Given the description of an element on the screen output the (x, y) to click on. 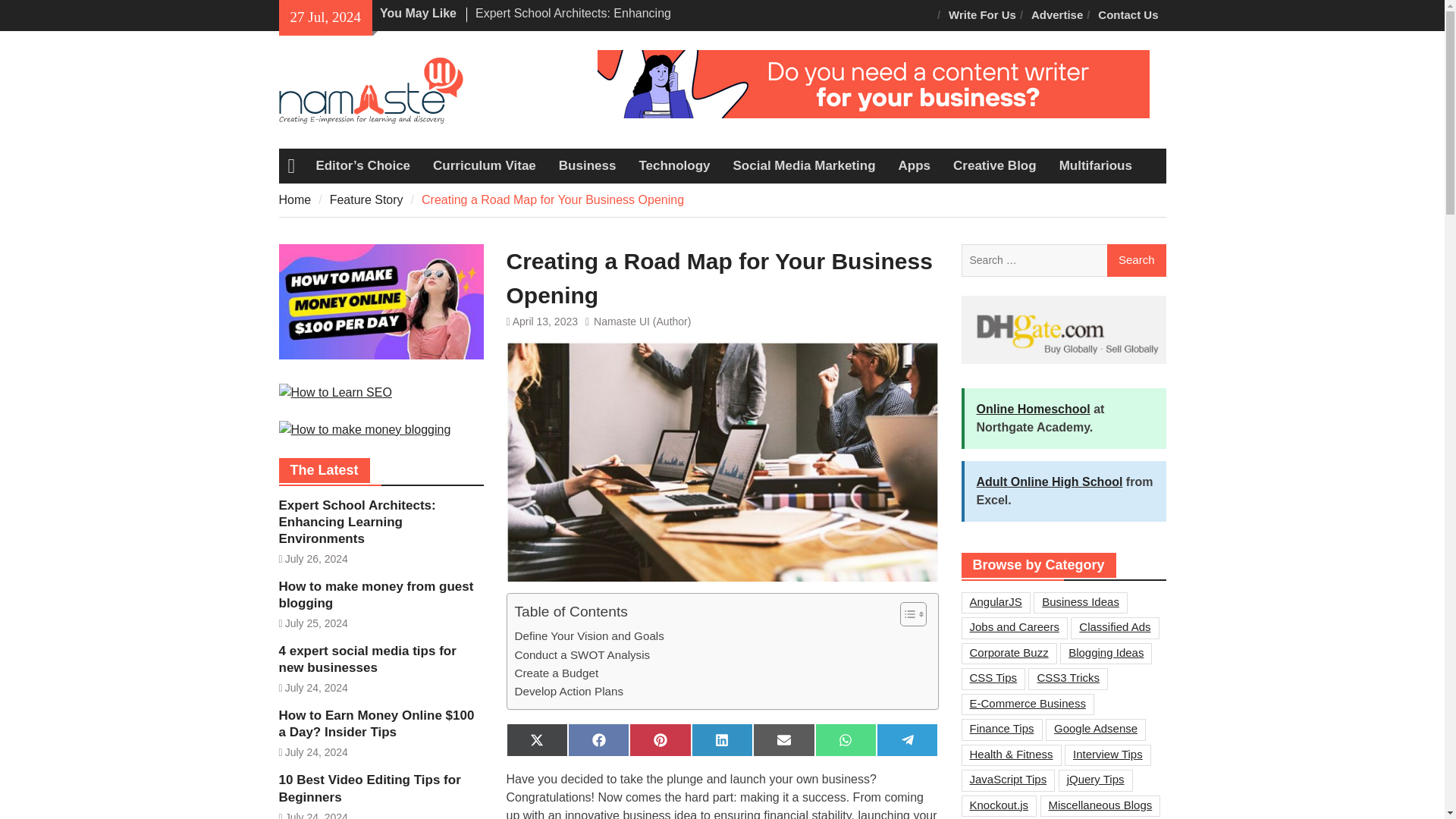
Develop Action Plans (568, 691)
Creative Blog (995, 165)
Define Your Vision and Goals (588, 636)
Share on WhatsApp (845, 739)
Feature Story (366, 198)
Write For Us (981, 15)
Business (587, 165)
Conduct a SWOT Analysis (581, 655)
Share on Telegram (906, 739)
Create a Budget (555, 673)
Business (587, 165)
Contact Us (1128, 15)
Search (1136, 260)
Search (1136, 260)
